Given the description of an element on the screen output the (x, y) to click on. 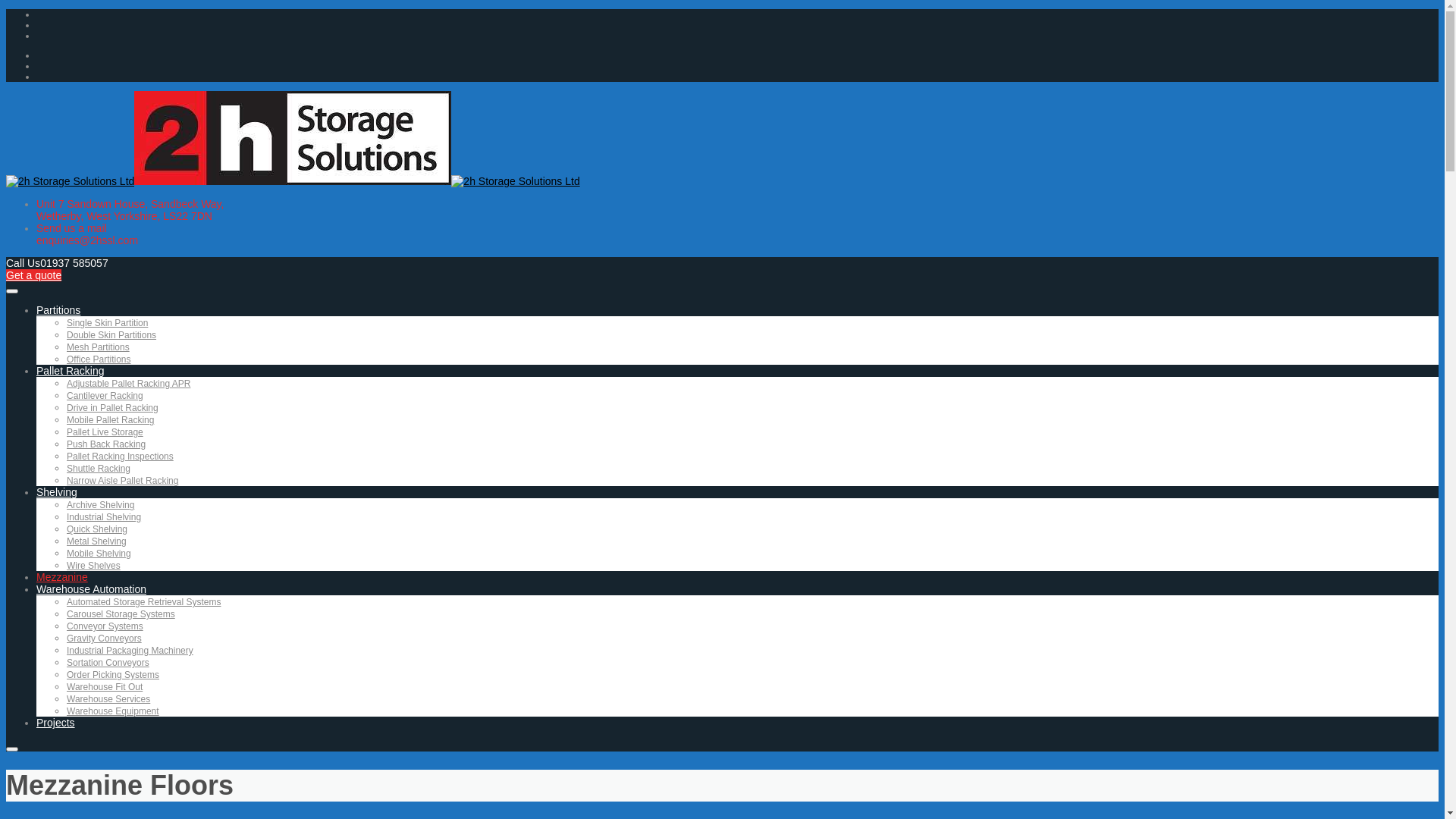
Cantilever Racking Element type: text (104, 395)
Single Skin Partition Element type: text (106, 322)
Narrow Aisle Pallet Racking Element type: text (122, 480)
Double Skin Partitions Element type: text (111, 334)
Shuttle Racking Element type: text (98, 468)
Gravity Conveyors Element type: text (103, 638)
Mobile Pallet Racking Element type: text (109, 419)
Sortation Conveyors Element type: text (107, 662)
Pallet Live Storage Element type: text (104, 431)
Industrial Packaging Machinery Element type: text (129, 650)
Mobile Shelving Element type: text (98, 553)
Office Partitions Element type: text (98, 359)
Mesh Partitions Element type: text (97, 347)
Wire Shelves Element type: text (93, 565)
Projects Element type: text (55, 722)
Warehouse Equipment Element type: text (112, 711)
Metal Shelving Element type: text (96, 541)
Adjustable Pallet Racking APR Element type: text (128, 383)
Drive in Pallet Racking Element type: text (112, 407)
Mezzanine Element type: text (61, 577)
Warehouse Services Element type: text (108, 698)
Archive Shelving Element type: text (100, 504)
Push Back Racking Element type: text (105, 444)
Order Picking Systems Element type: text (112, 674)
Pallet Racking Inspections Element type: text (119, 456)
Warehouse Automation Element type: text (91, 589)
Automated Storage Retrieval Systems Element type: text (143, 601)
Shelving Element type: text (56, 492)
Pallet Racking Element type: text (70, 370)
Warehouse Fit Out Element type: text (104, 686)
Industrial Shelving Element type: text (103, 516)
Quick Shelving Element type: text (96, 529)
Partitions Element type: text (58, 310)
Carousel Storage Systems Element type: text (120, 613)
Get a quote Element type: text (33, 275)
Conveyor Systems Element type: text (104, 626)
